Given the description of an element on the screen output the (x, y) to click on. 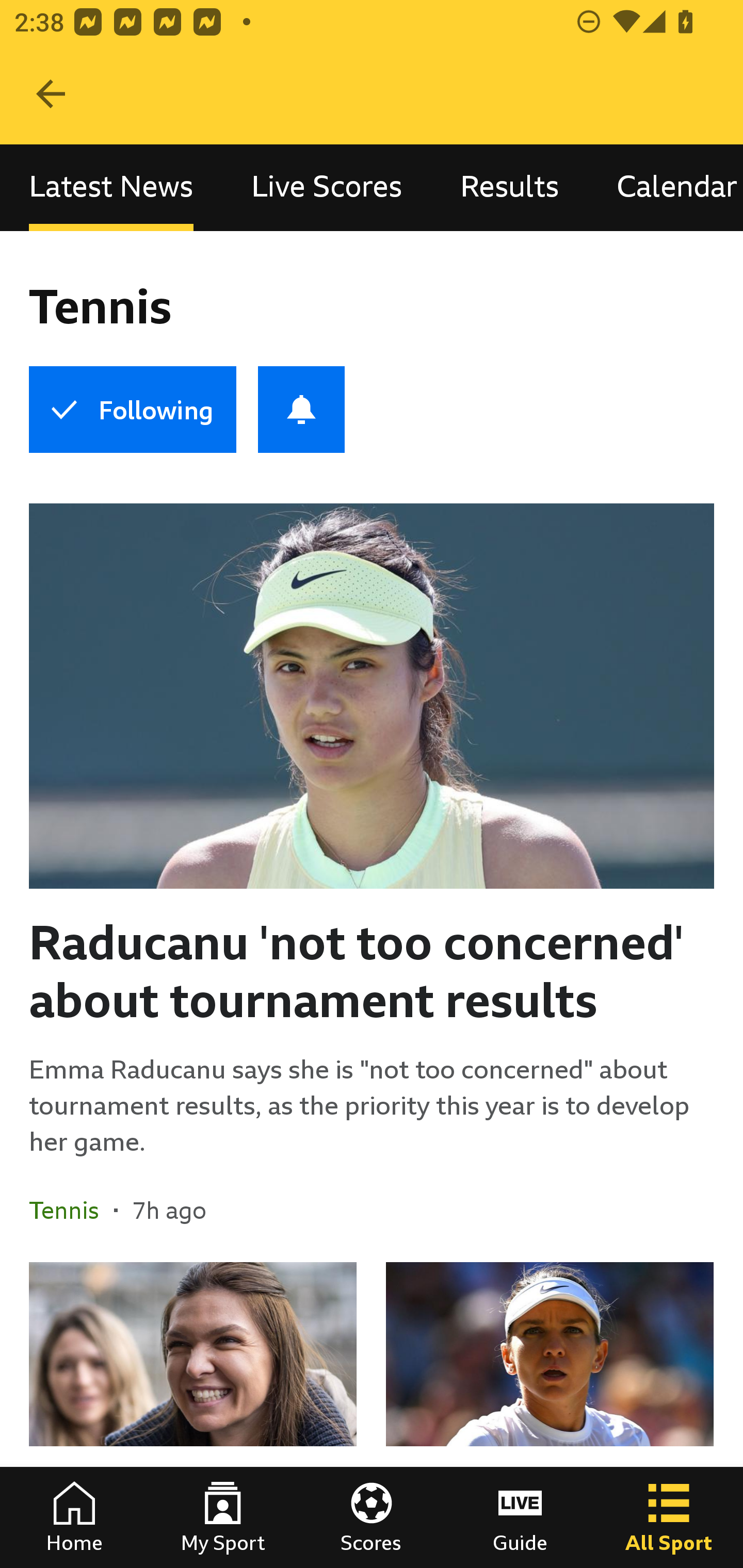
Navigate up (50, 93)
Latest News, selected Latest News (111, 187)
Live Scores (326, 187)
Results (509, 187)
Calendar (665, 187)
Following Tennis Following (132, 409)
Push notifications for Tennis (300, 409)
Halep's doping ban reduced to nine months (549, 1415)
Home (74, 1517)
My Sport (222, 1517)
Scores (371, 1517)
Guide (519, 1517)
